Given the description of an element on the screen output the (x, y) to click on. 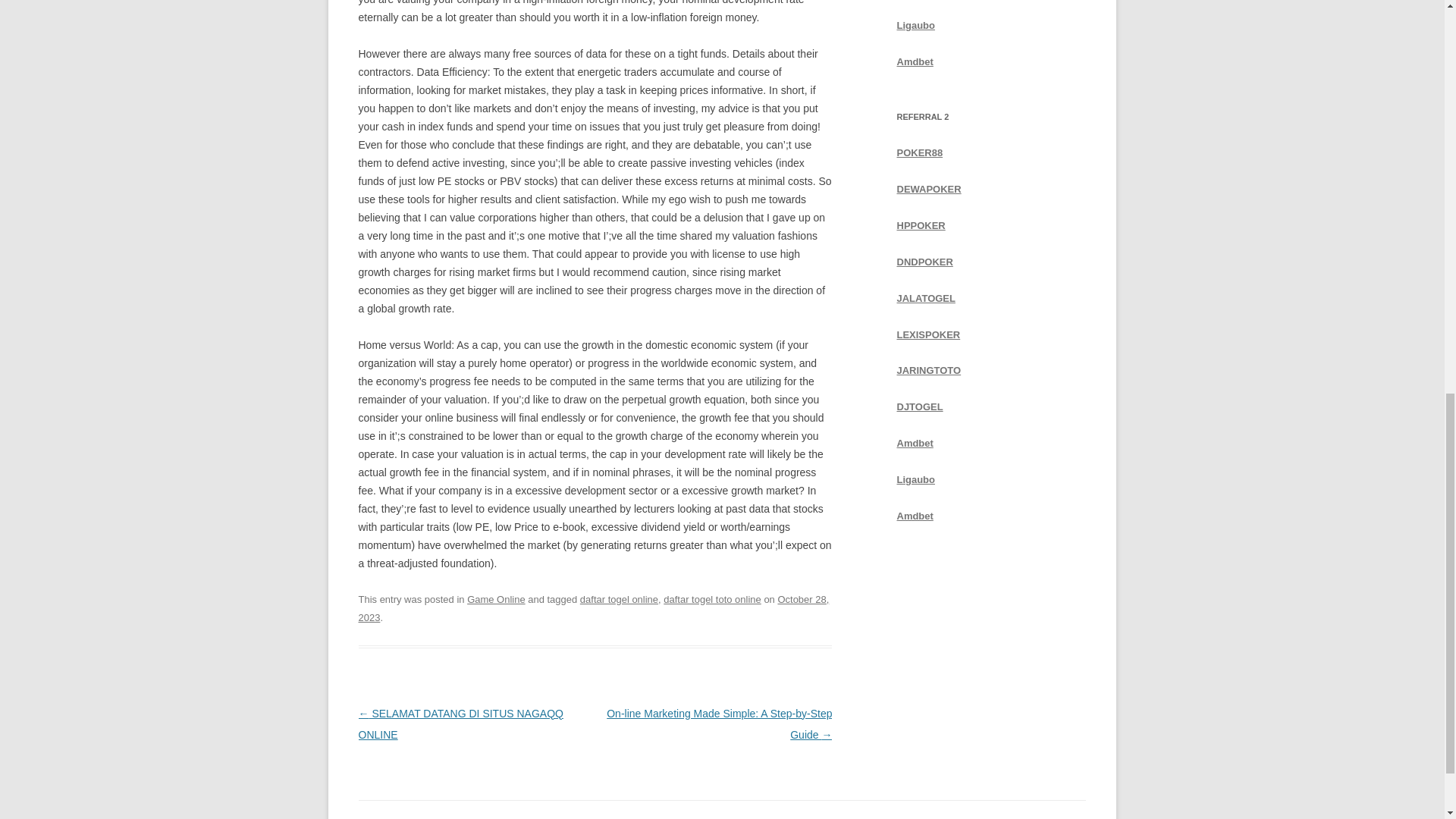
DEWAPOKER (928, 188)
daftar togel toto online (712, 599)
LEXISPOKER (927, 333)
Amdbet (914, 61)
POKER88 (919, 152)
DJTOGEL (919, 406)
POKER88 (919, 152)
October 28, 2023 (593, 608)
Ligaubo (915, 479)
Game Online (496, 599)
